Given the description of an element on the screen output the (x, y) to click on. 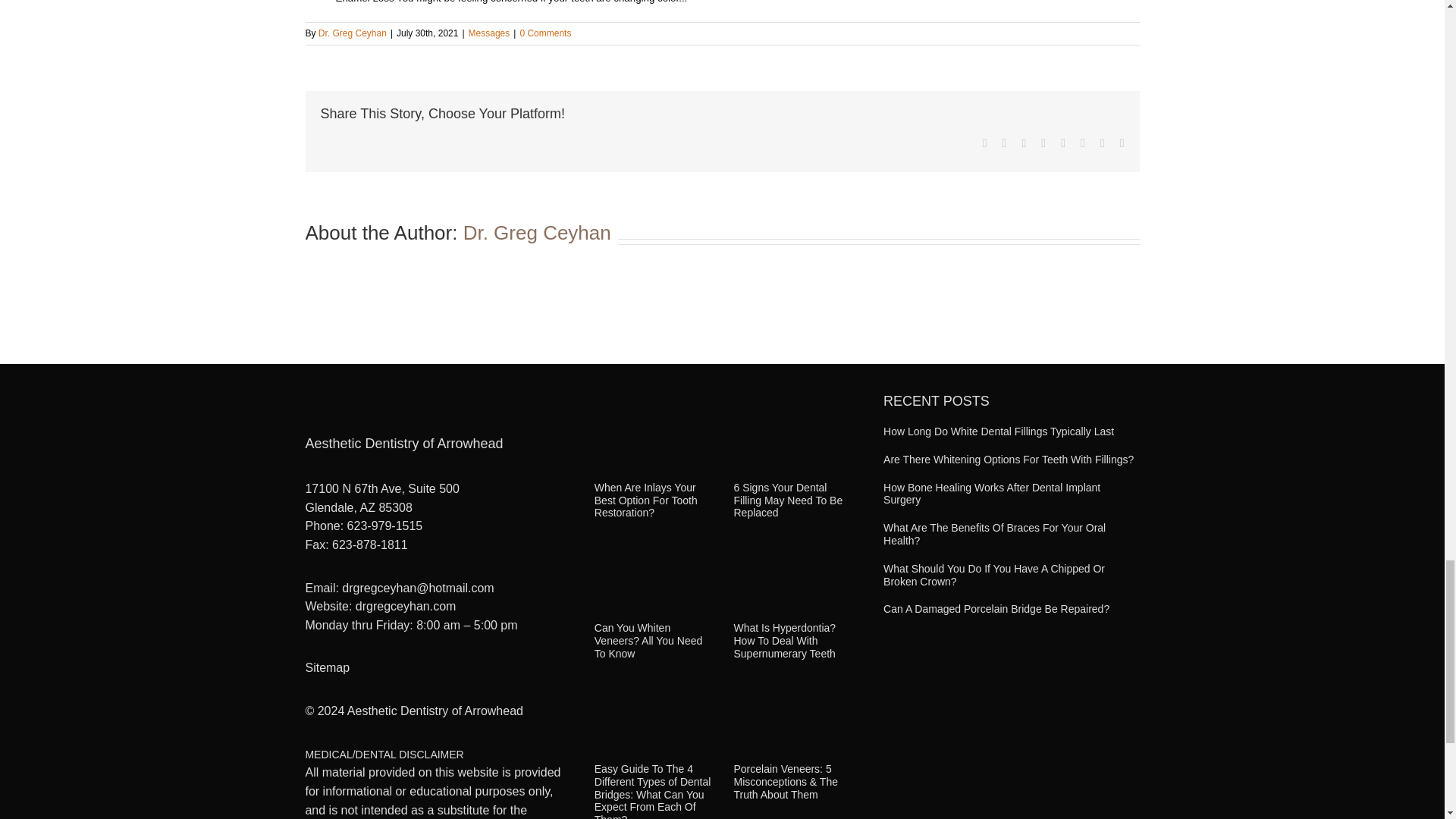
0 Comments (544, 32)
Messages (489, 32)
Dr. Greg Ceyhan (352, 32)
Posts by Dr. Greg Ceyhan (352, 32)
